Given the description of an element on the screen output the (x, y) to click on. 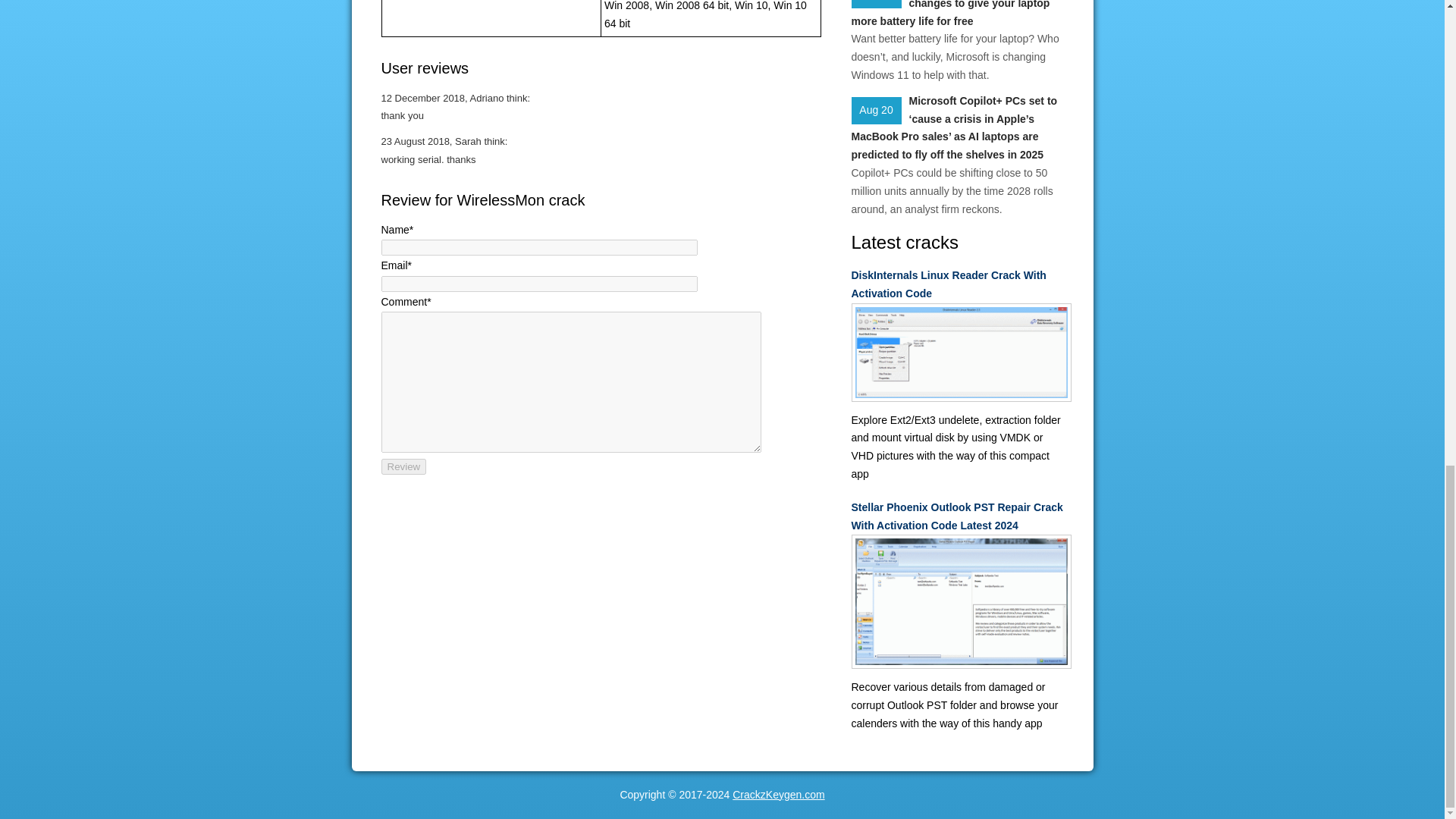
Review (403, 466)
CrackzKeygen.com (778, 794)
DiskInternals Linux Reader Crack With Activation Code (956, 284)
Review (403, 466)
